Given the description of an element on the screen output the (x, y) to click on. 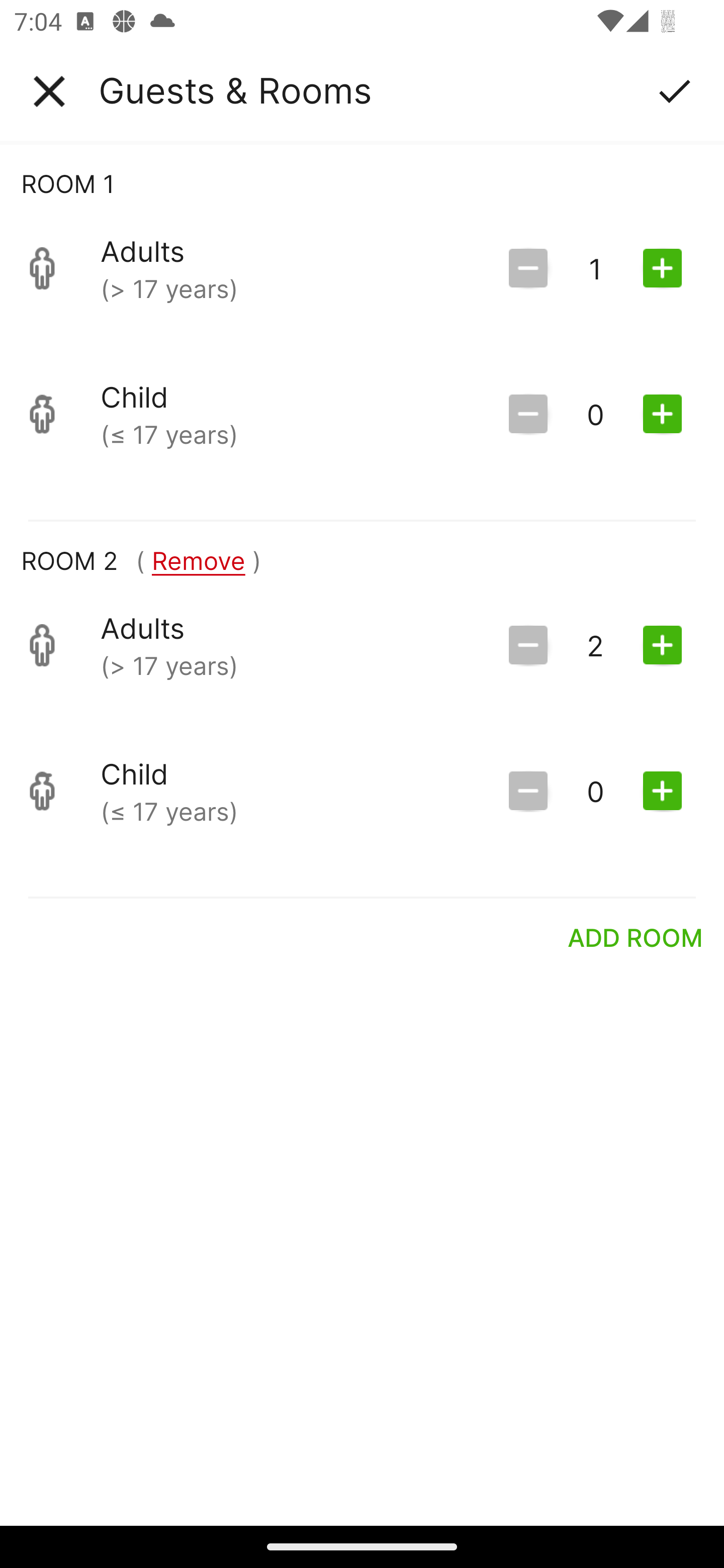
( Remove ) (198, 560)
ADD ROOM (635, 936)
